Given the description of an element on the screen output the (x, y) to click on. 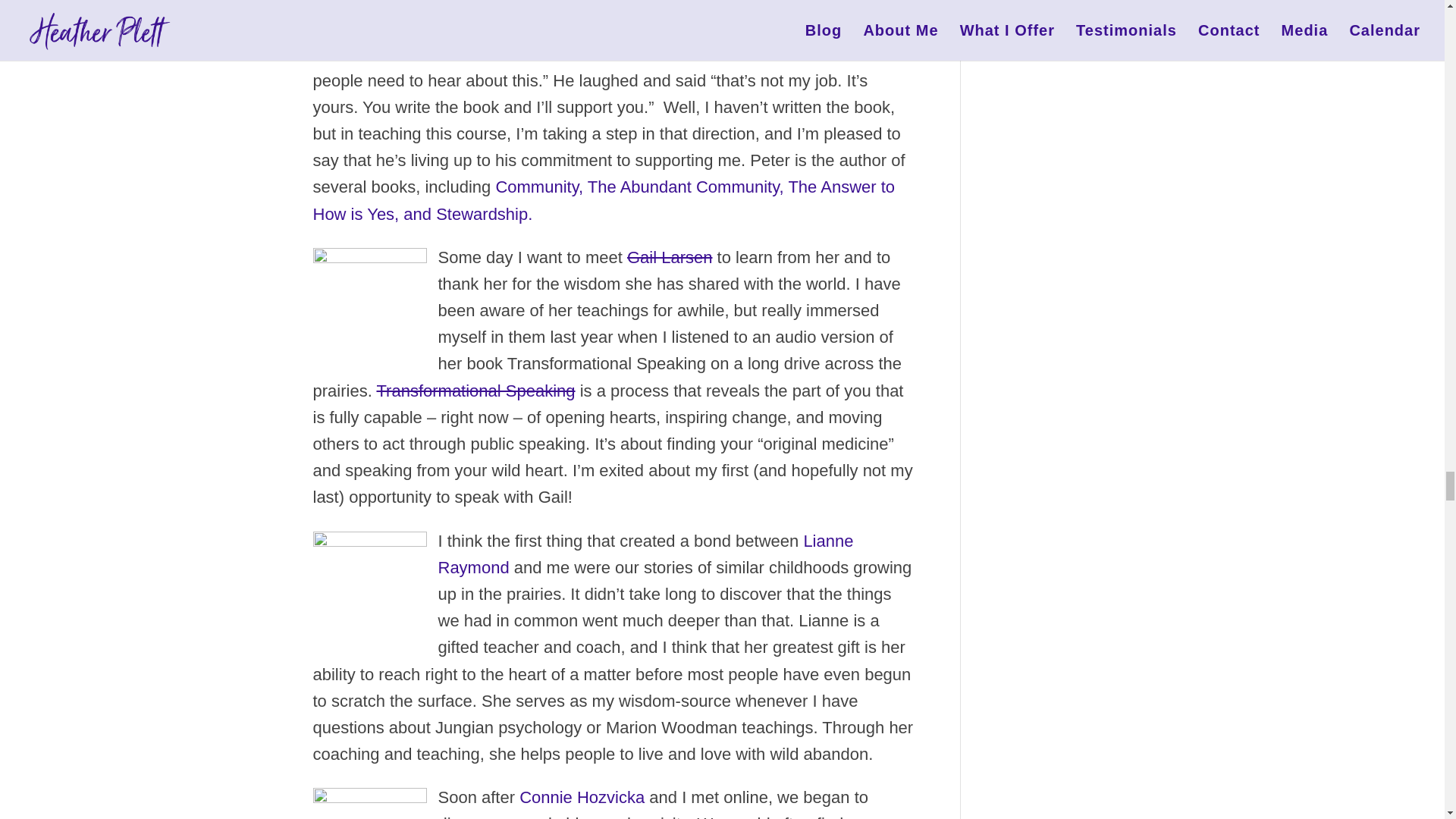
Lianne Raymond (369, 584)
Gail-Larsen-Photo (369, 300)
